Given the description of an element on the screen output the (x, y) to click on. 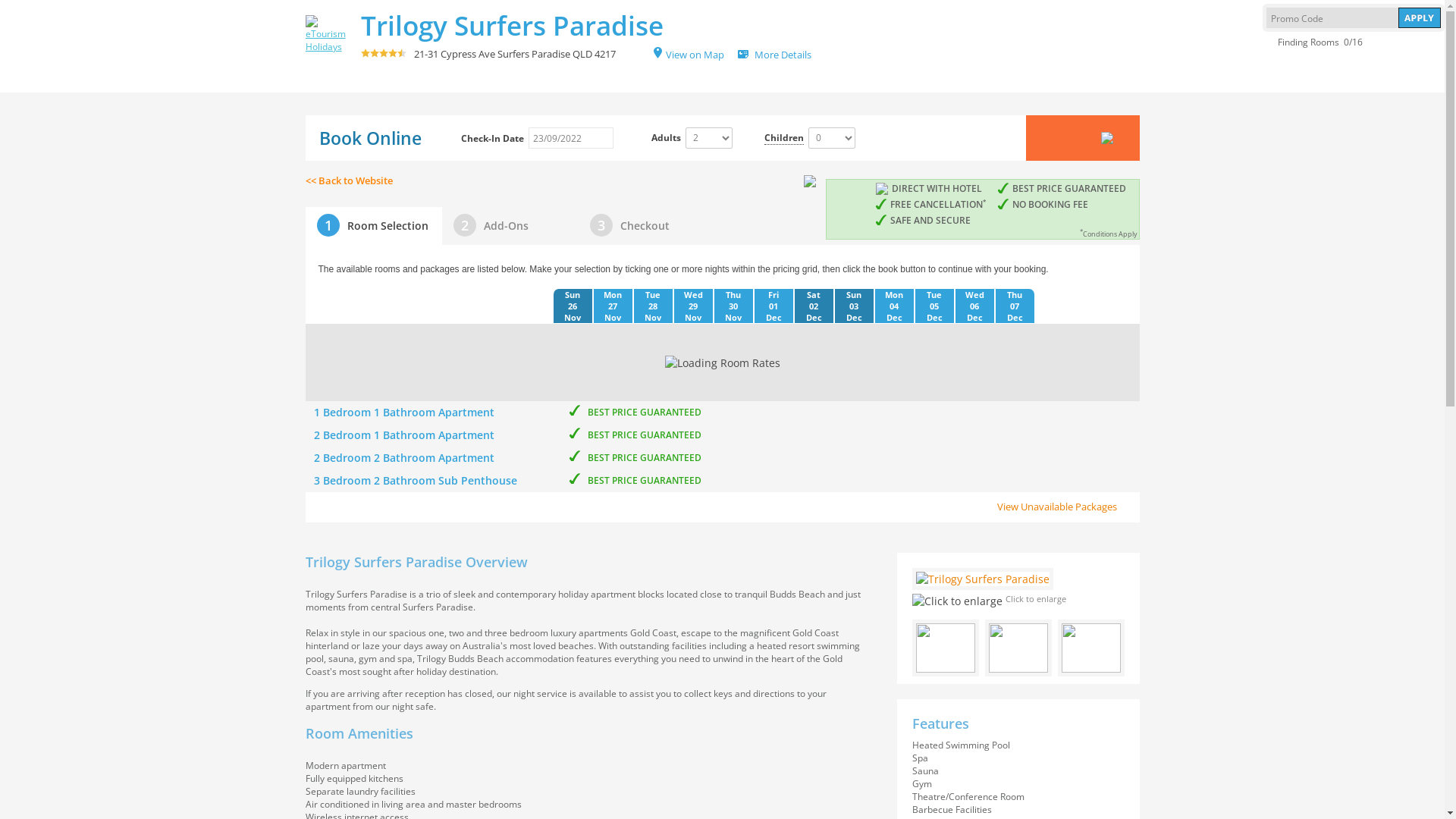
APPLY Element type: text (1419, 17)
Click to advance forward 1 day Element type: hover (1057, 305)
View on Map Element type: text (689, 53)
<< Back to Website Element type: text (721, 180)
Trilogy Surfers Paradise Element type: text (511, 25)
SEARCH Element type: text (1082, 137)
More Details Element type: text (781, 53)
View Unavailable Packages Element type: text (1067, 498)
